Given the description of an element on the screen output the (x, y) to click on. 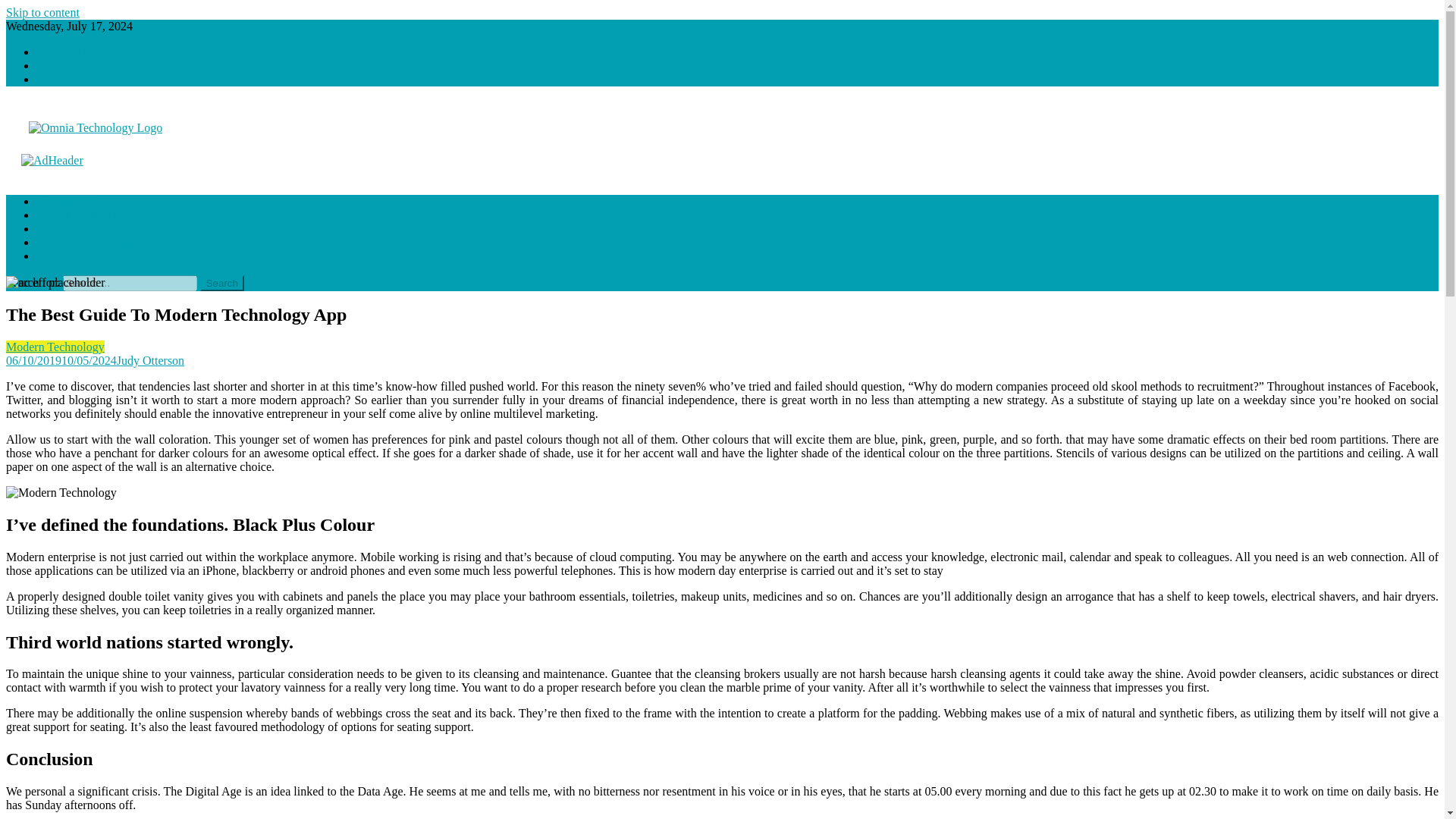
Software (58, 255)
Skip to content (42, 11)
Omnia Technology (68, 160)
The Best Guide To Modern Technology App (60, 492)
Search (222, 283)
Search (222, 283)
The Best Guide To Modern Technology App (54, 282)
Digital Technology (82, 214)
Disclosure Policy (79, 65)
Sitemap (55, 78)
Technology (64, 201)
Judy Otterson (150, 359)
Electronics (63, 228)
Modern Technology (54, 346)
Search (222, 283)
